Given the description of an element on the screen output the (x, y) to click on. 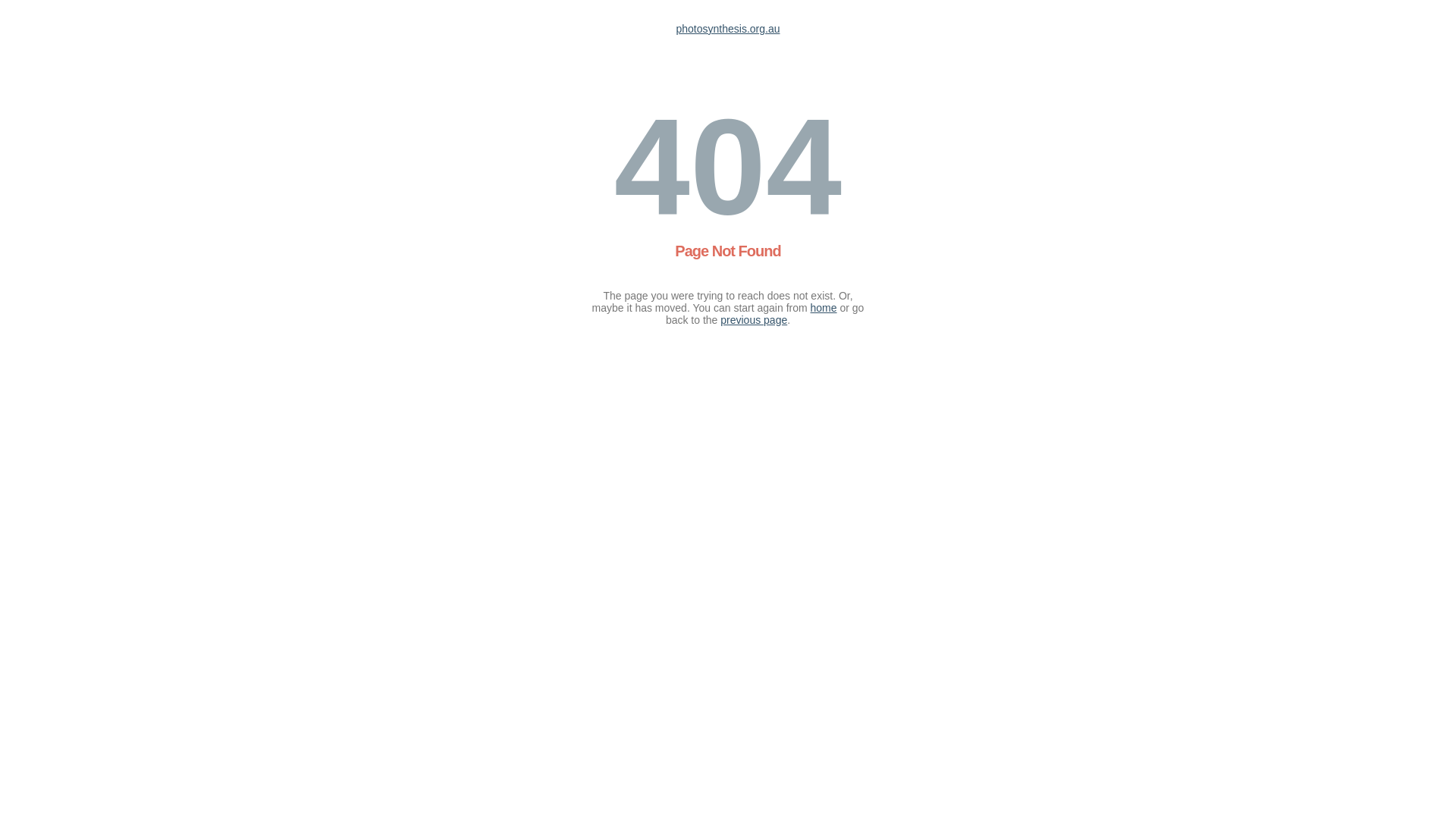
photosynthesis.org.au Element type: text (728, 28)
home Element type: text (823, 307)
previous page Element type: text (753, 319)
